Given the description of an element on the screen output the (x, y) to click on. 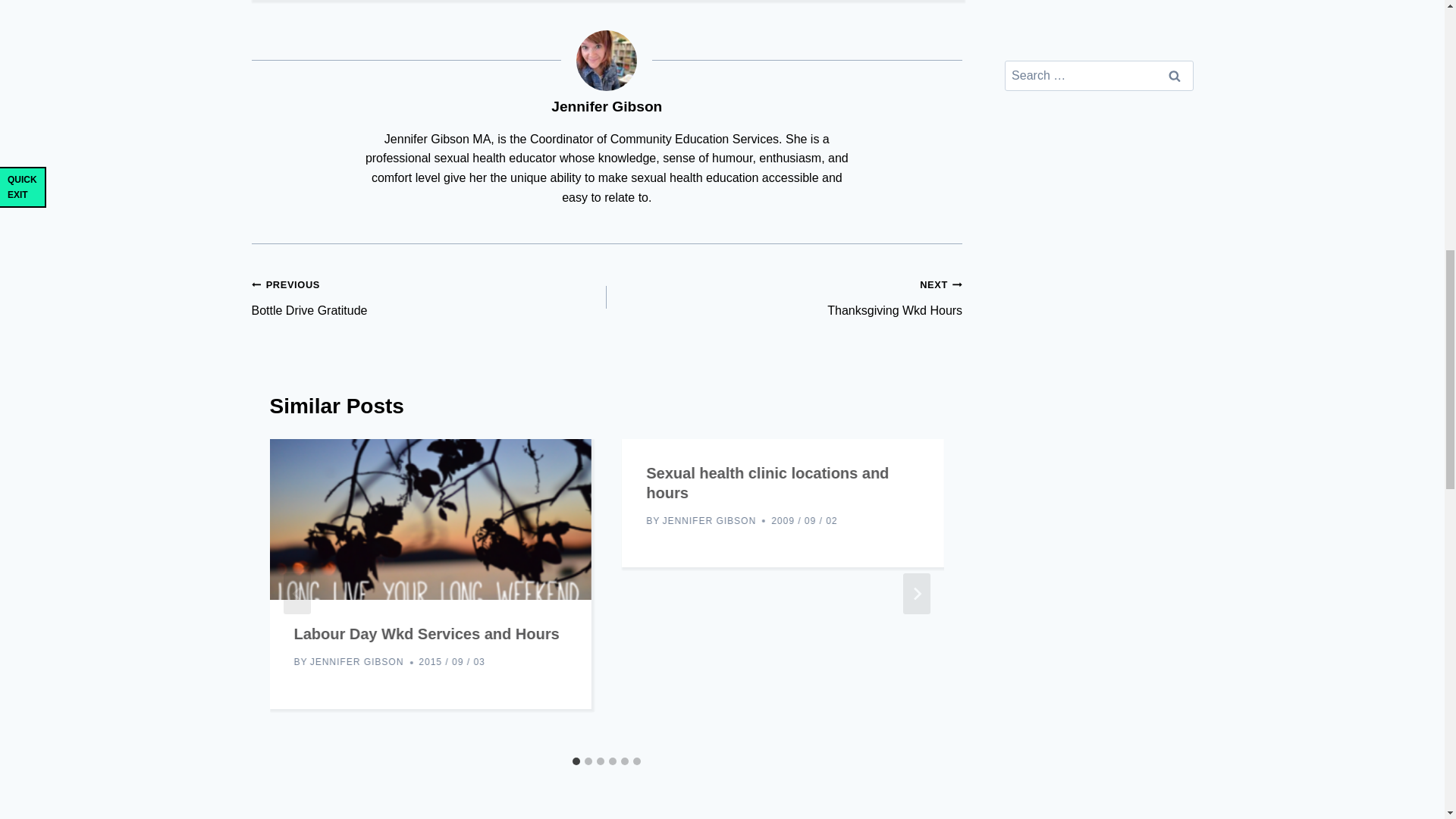
Posts by Jennifer Gibson (606, 106)
Jennifer Gibson (784, 297)
